Given the description of an element on the screen output the (x, y) to click on. 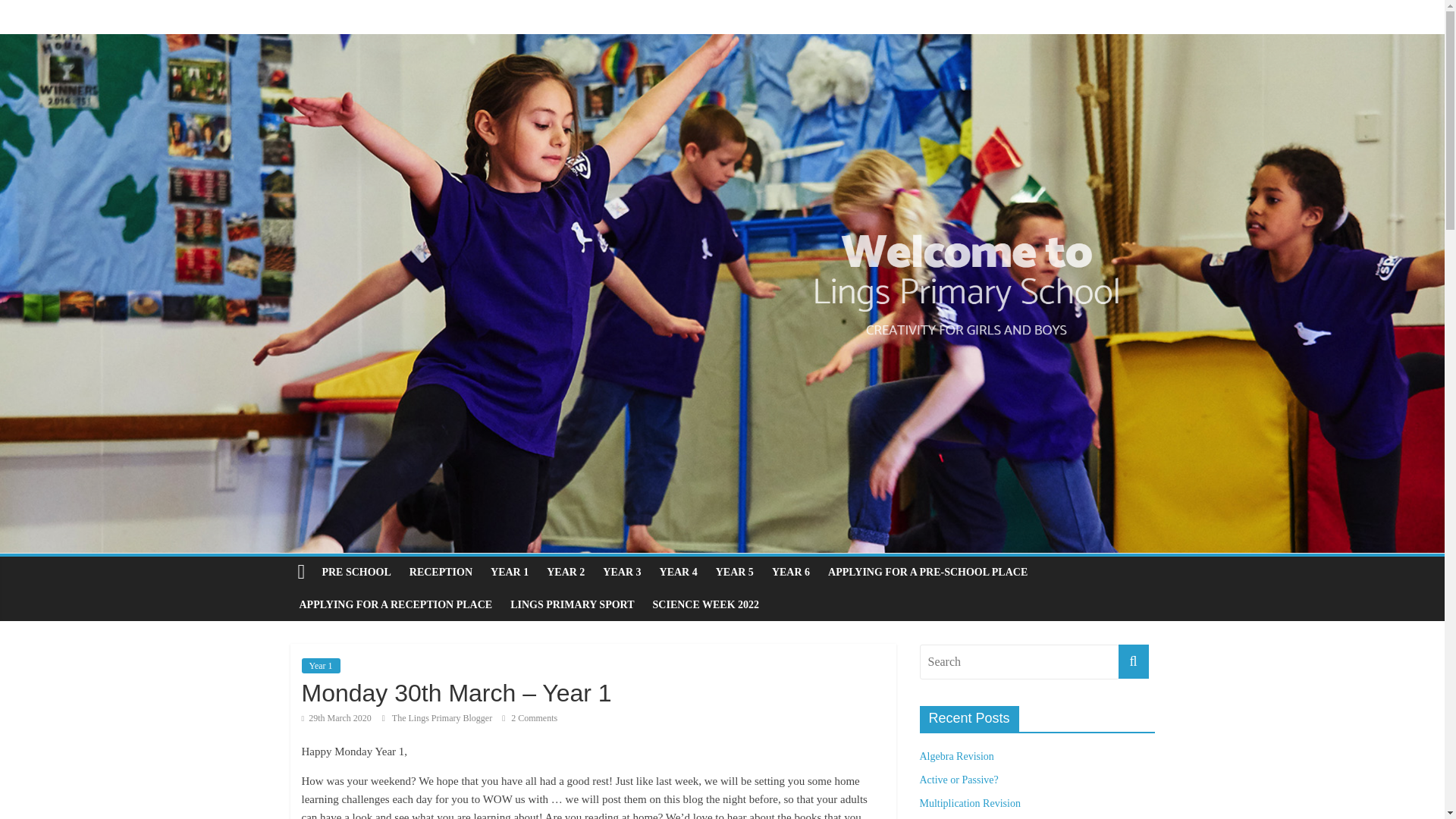
RECEPTION (440, 572)
2 Comments (529, 717)
YEAR 6 (790, 572)
3:21 pm (336, 717)
APPLYING FOR A RECEPTION PLACE (394, 604)
SCIENCE WEEK 2022 (705, 604)
YEAR 5 (734, 572)
LINGS PRIMARY SPORT (571, 604)
29th March 2020 (336, 717)
The Lings Primary Blogger (443, 717)
